Given the description of an element on the screen output the (x, y) to click on. 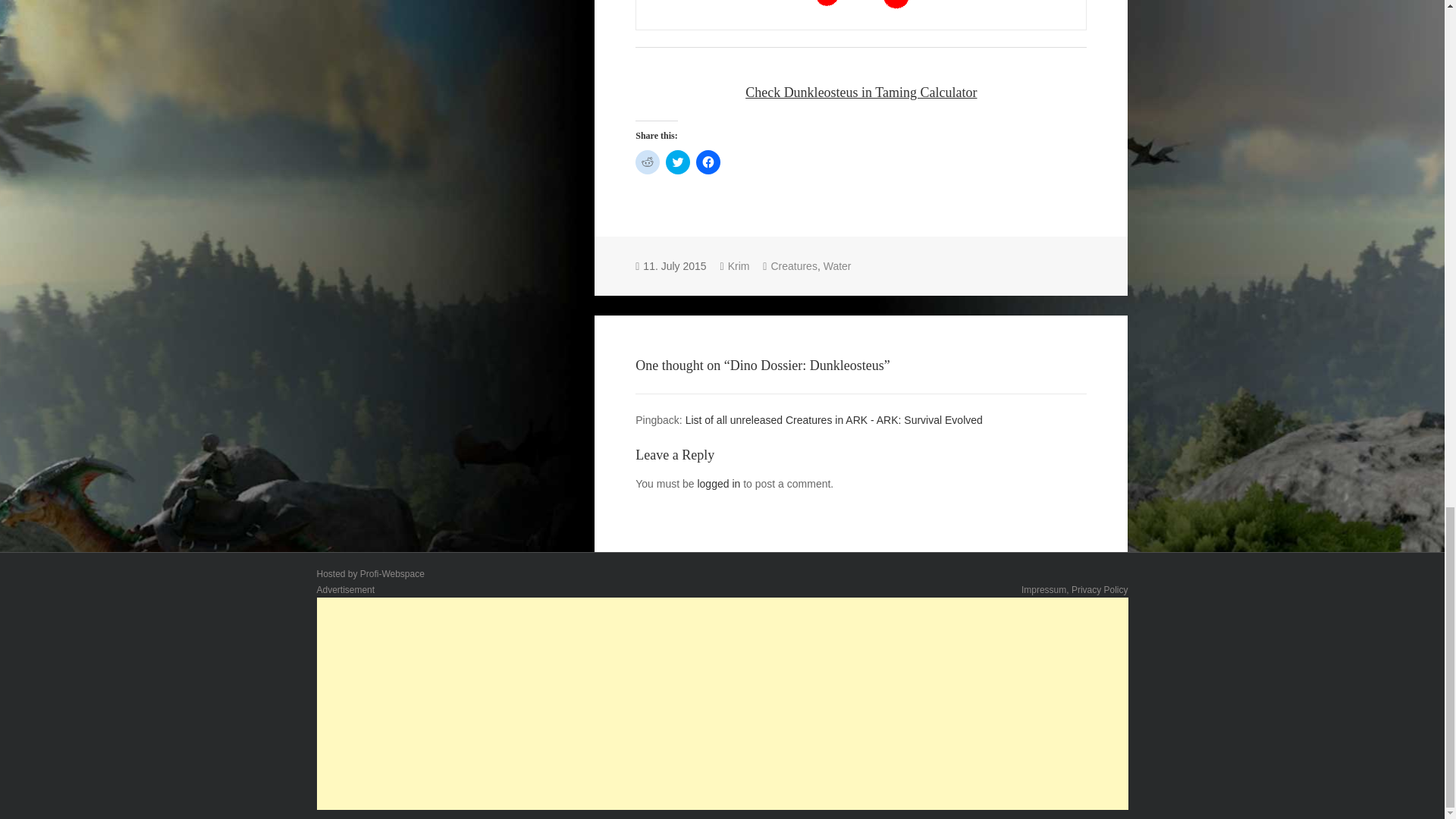
Click to share on Facebook (707, 161)
View all posts in Creatures (793, 266)
Click to share on Reddit (646, 161)
View all posts in Water (837, 266)
Posts by Krim (738, 266)
Click to share on Twitter (677, 161)
